Given the description of an element on the screen output the (x, y) to click on. 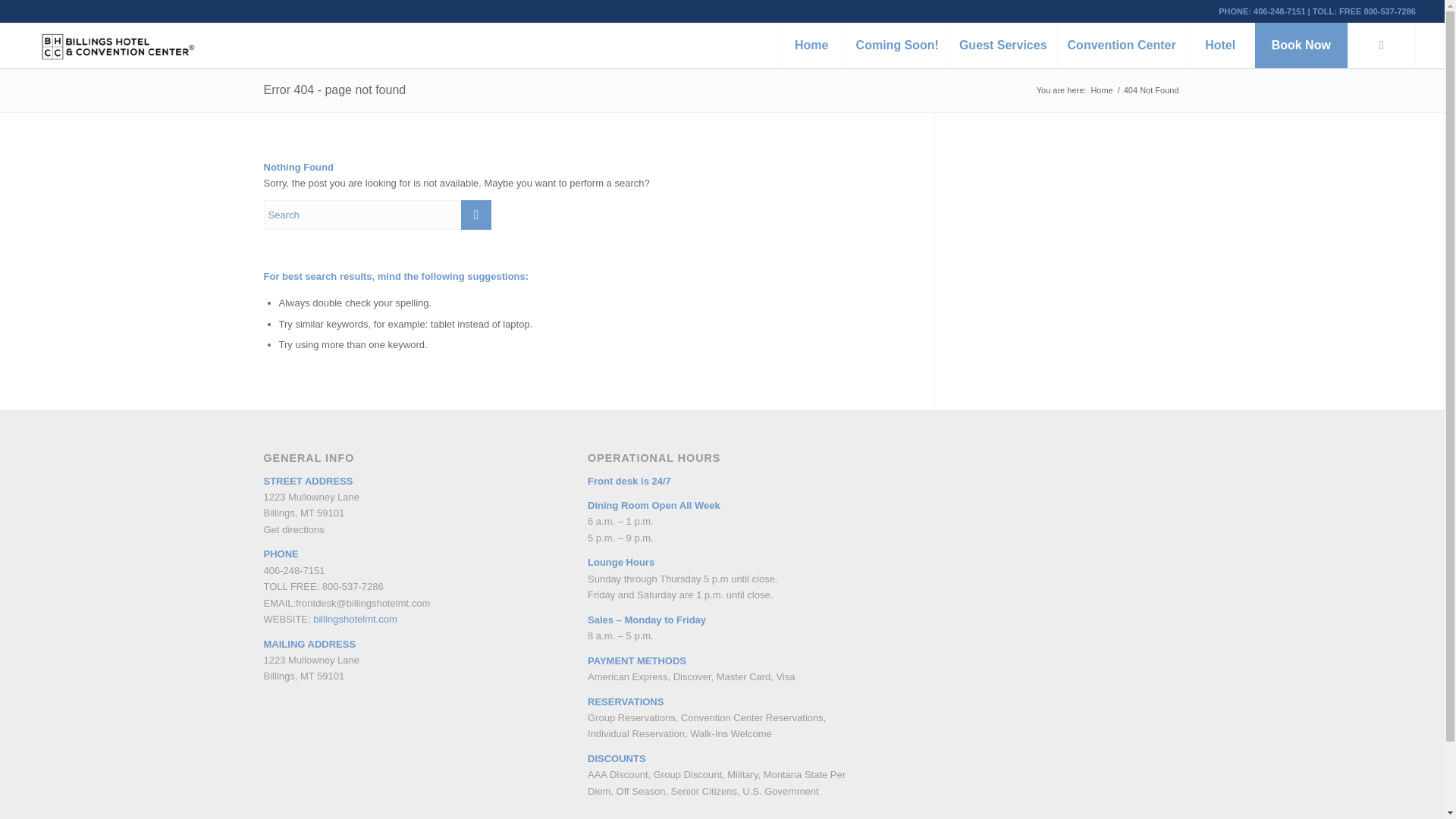
Book Now (1300, 44)
Coming Soon! (897, 44)
Convention Center (1121, 44)
Hotel (1219, 44)
billingshotelmt.com (355, 618)
Guest Services (1003, 44)
Home (811, 44)
Home (1101, 90)
